Given the description of an element on the screen output the (x, y) to click on. 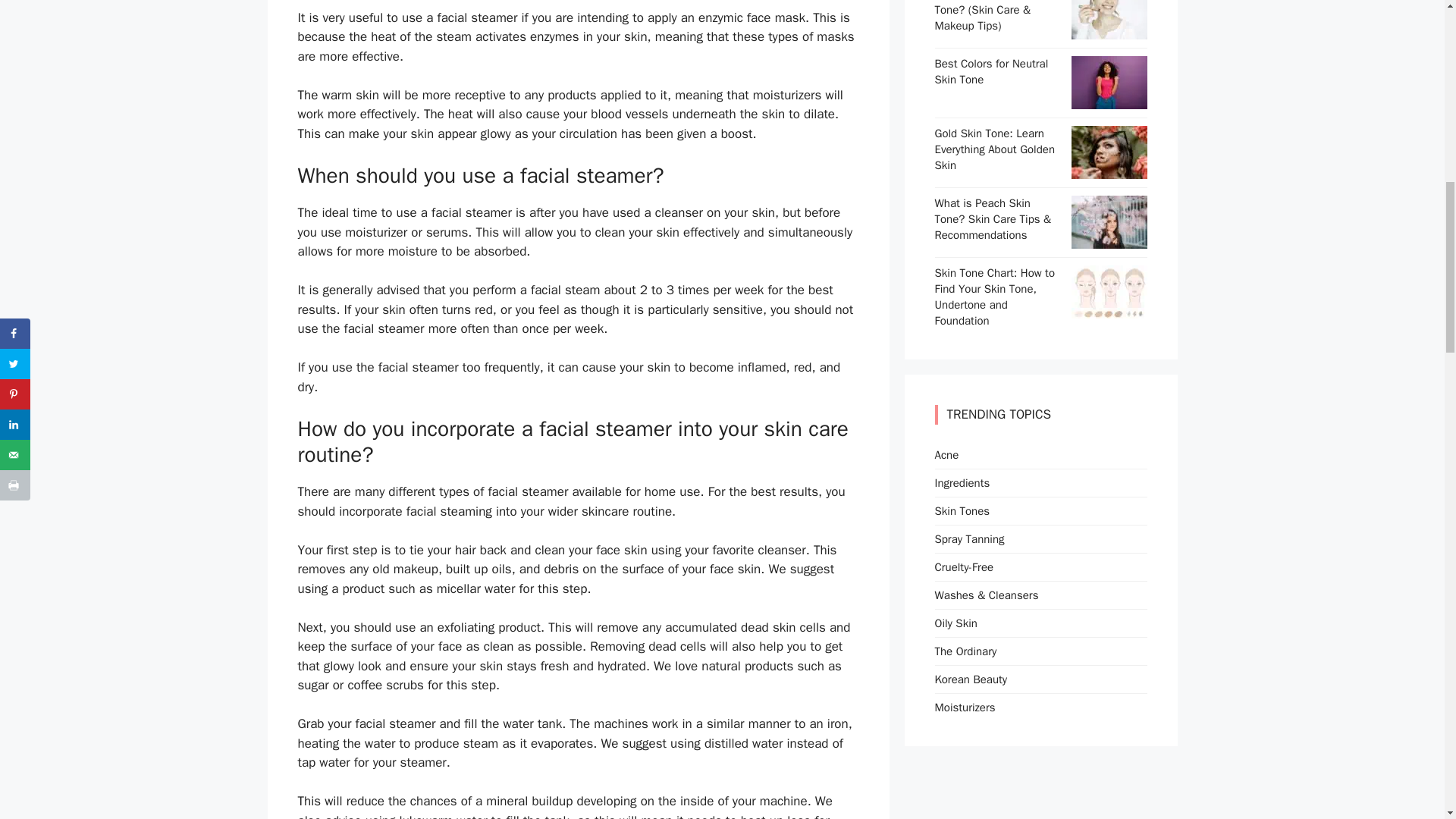
Gold Skin Tone: Learn Everything About Golden Skin (1108, 170)
Best Colors for Neutral Skin Tone (1108, 100)
